Given the description of an element on the screen output the (x, y) to click on. 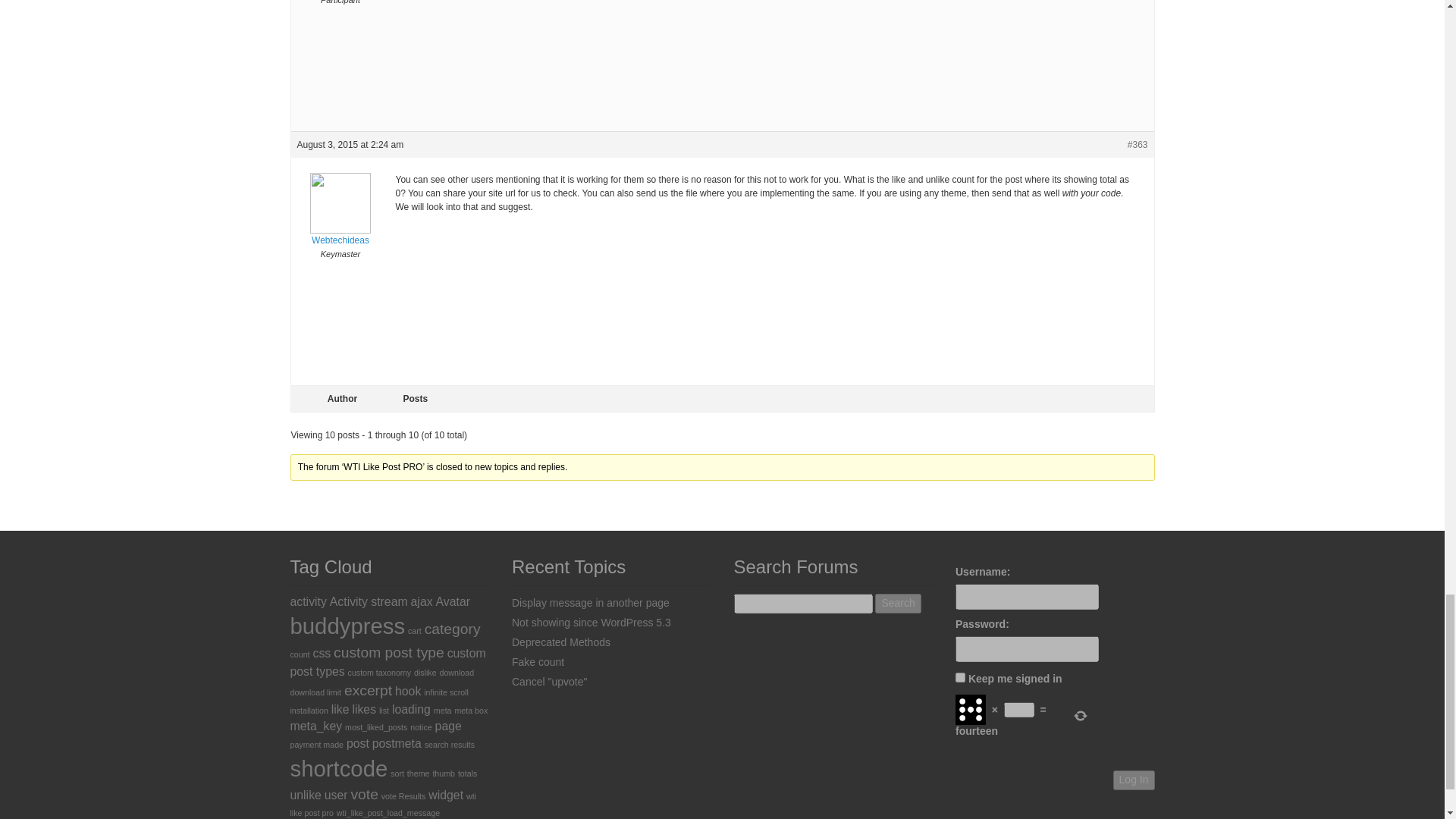
forever (960, 677)
View Webtechideas's profile (340, 220)
Search (897, 603)
